Given the description of an element on the screen output the (x, y) to click on. 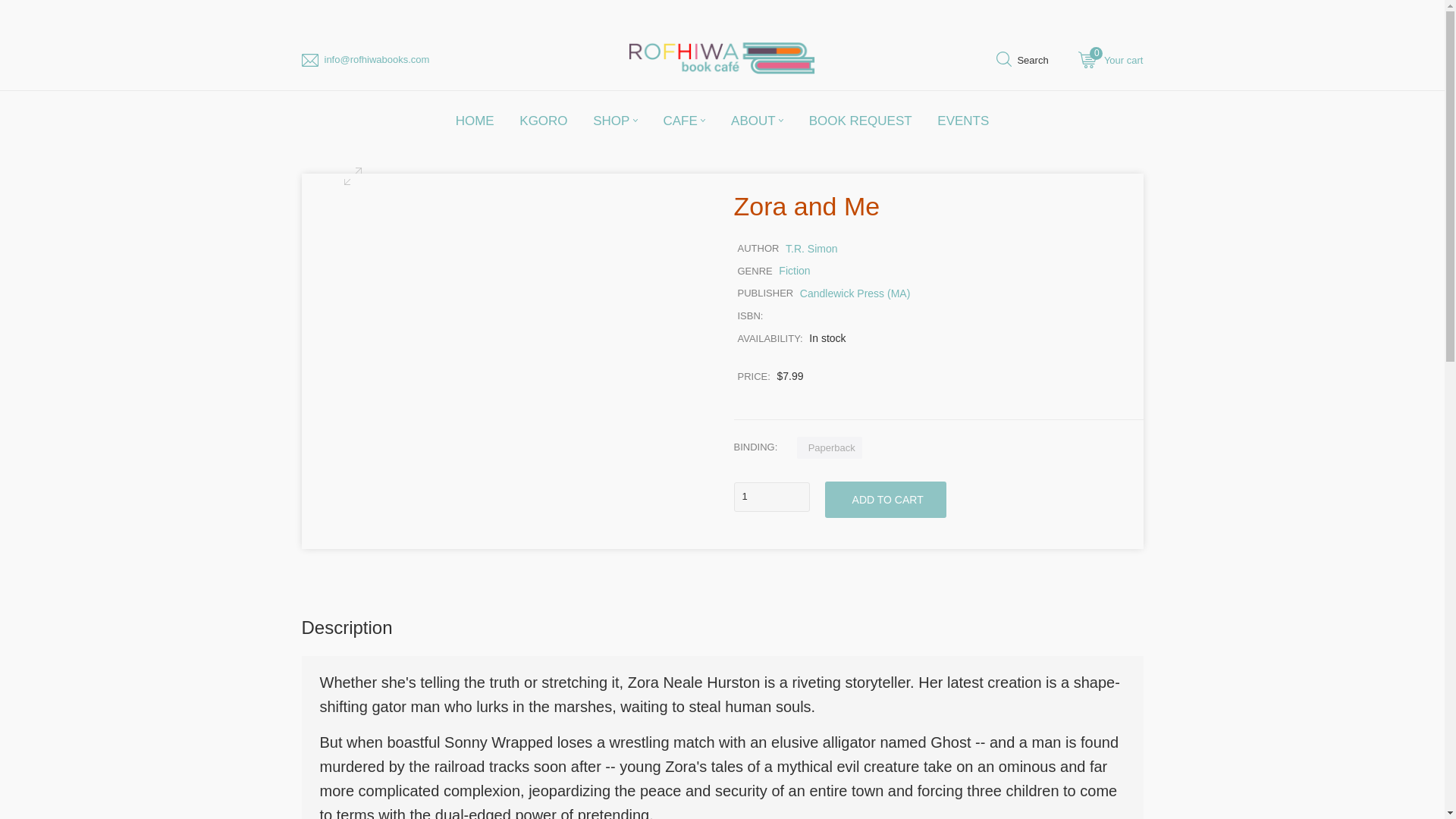
1 (771, 496)
Search (1021, 61)
SHOP (614, 120)
HOME (1110, 62)
KGORO (474, 120)
